Given the description of an element on the screen output the (x, y) to click on. 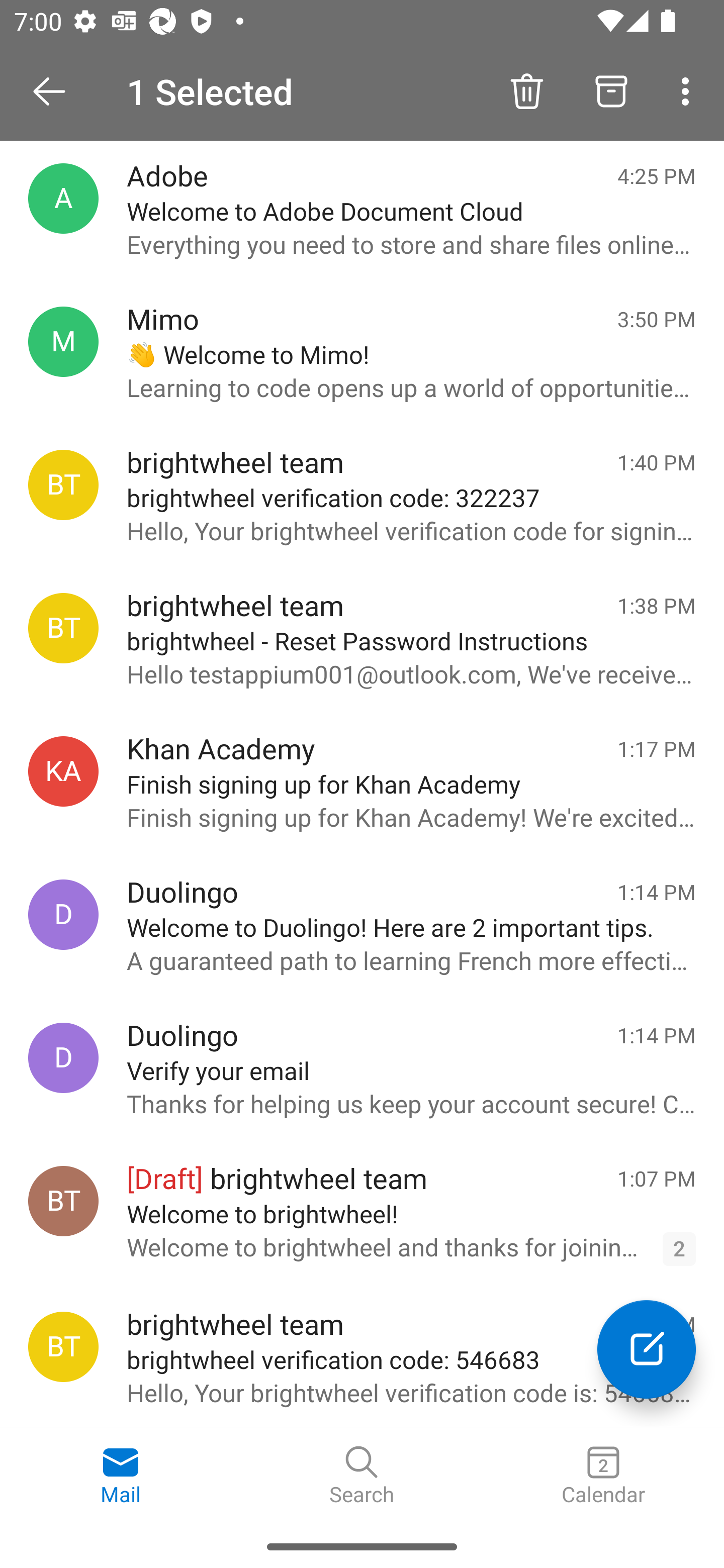
Delete (526, 90)
Archive (611, 90)
More options (688, 90)
Open Navigation Drawer (55, 91)
Adobe, message@adobe.com (63, 198)
Mimo, support@getmimo.com (63, 341)
brightwheel team, recovery@mybrightwheel.com (63, 485)
brightwheel team, recovery@mybrightwheel.com (63, 627)
Khan Academy, no-reply@khanacademy.org (63, 770)
Duolingo, hello@duolingo.com (63, 914)
Duolingo, hello@duolingo.com (63, 1057)
brightwheel team, welcome@mybrightwheel.com (63, 1200)
Compose (646, 1348)
brightwheel team, recovery@mybrightwheel.com (63, 1346)
Search (361, 1475)
Calendar (603, 1475)
